Given the description of an element on the screen output the (x, y) to click on. 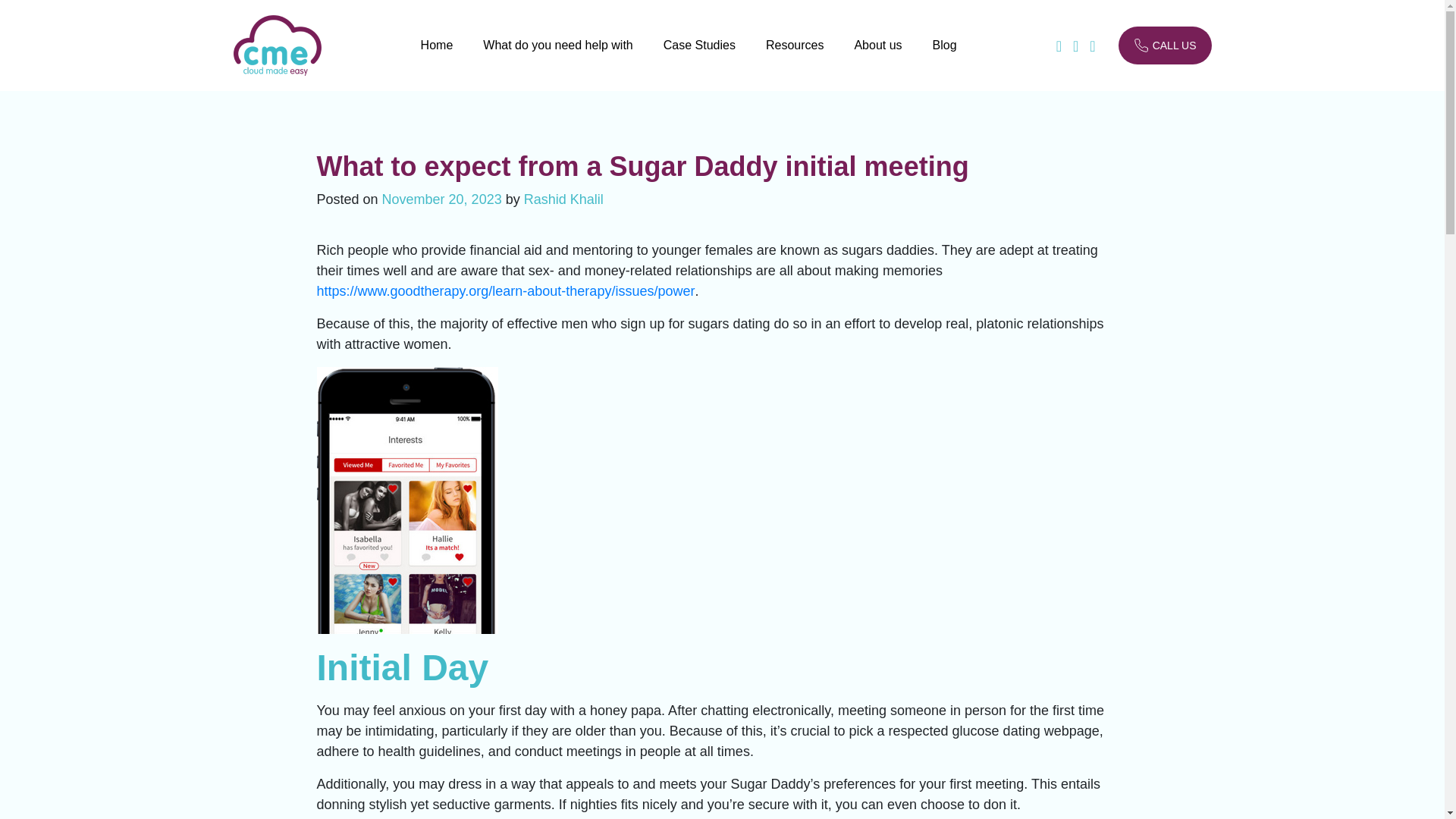
Case Studies (699, 57)
Resources (794, 57)
CALL US (1164, 45)
Resources (794, 57)
About us (877, 57)
About us (877, 57)
What do you need help with (557, 57)
Rashid Khalil (564, 199)
What do you need help with (557, 57)
November 20, 2023 (441, 199)
Case Studies (699, 57)
